Given the description of an element on the screen output the (x, y) to click on. 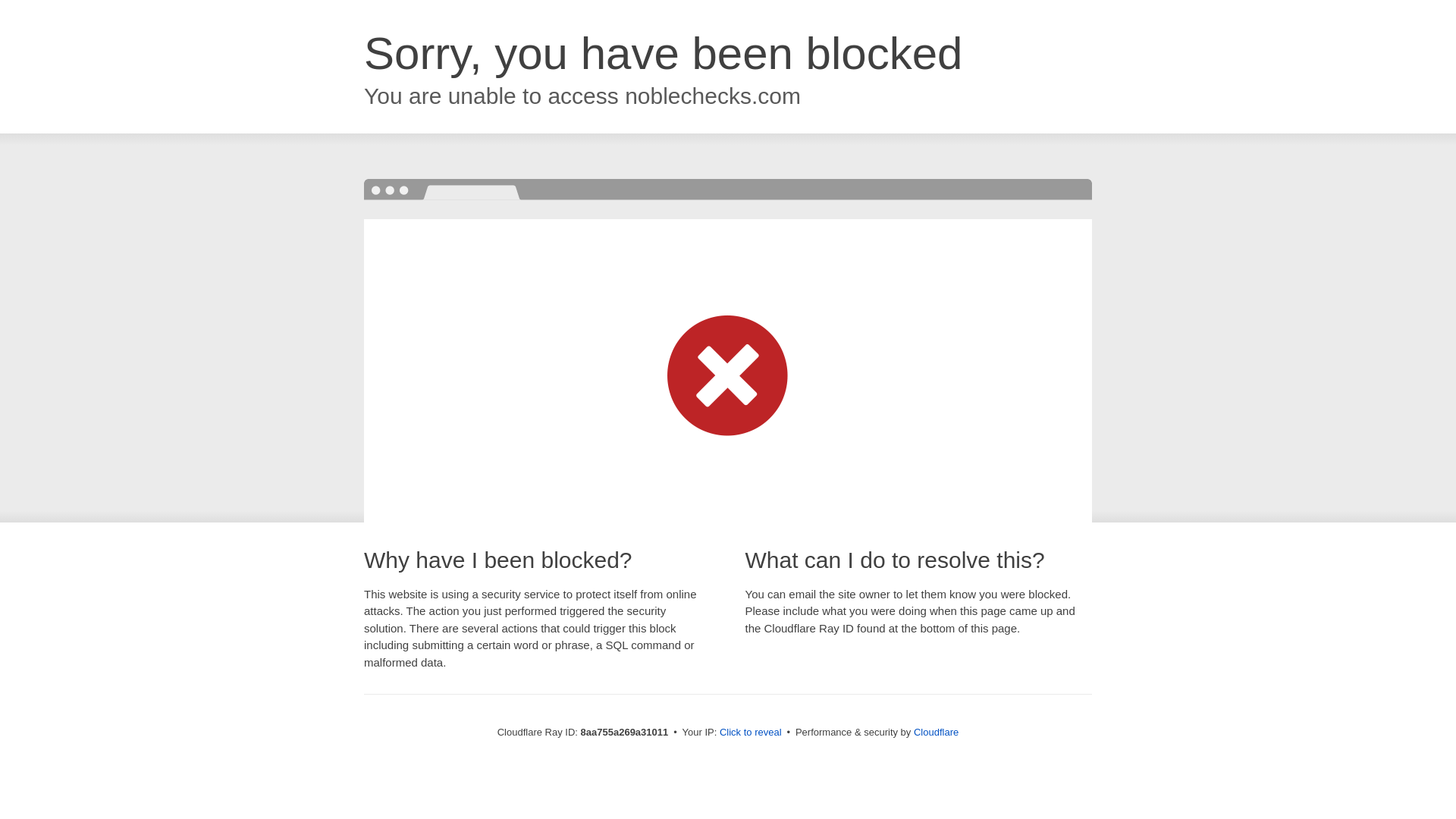
Click to reveal (750, 732)
Cloudflare (936, 731)
